Given the description of an element on the screen output the (x, y) to click on. 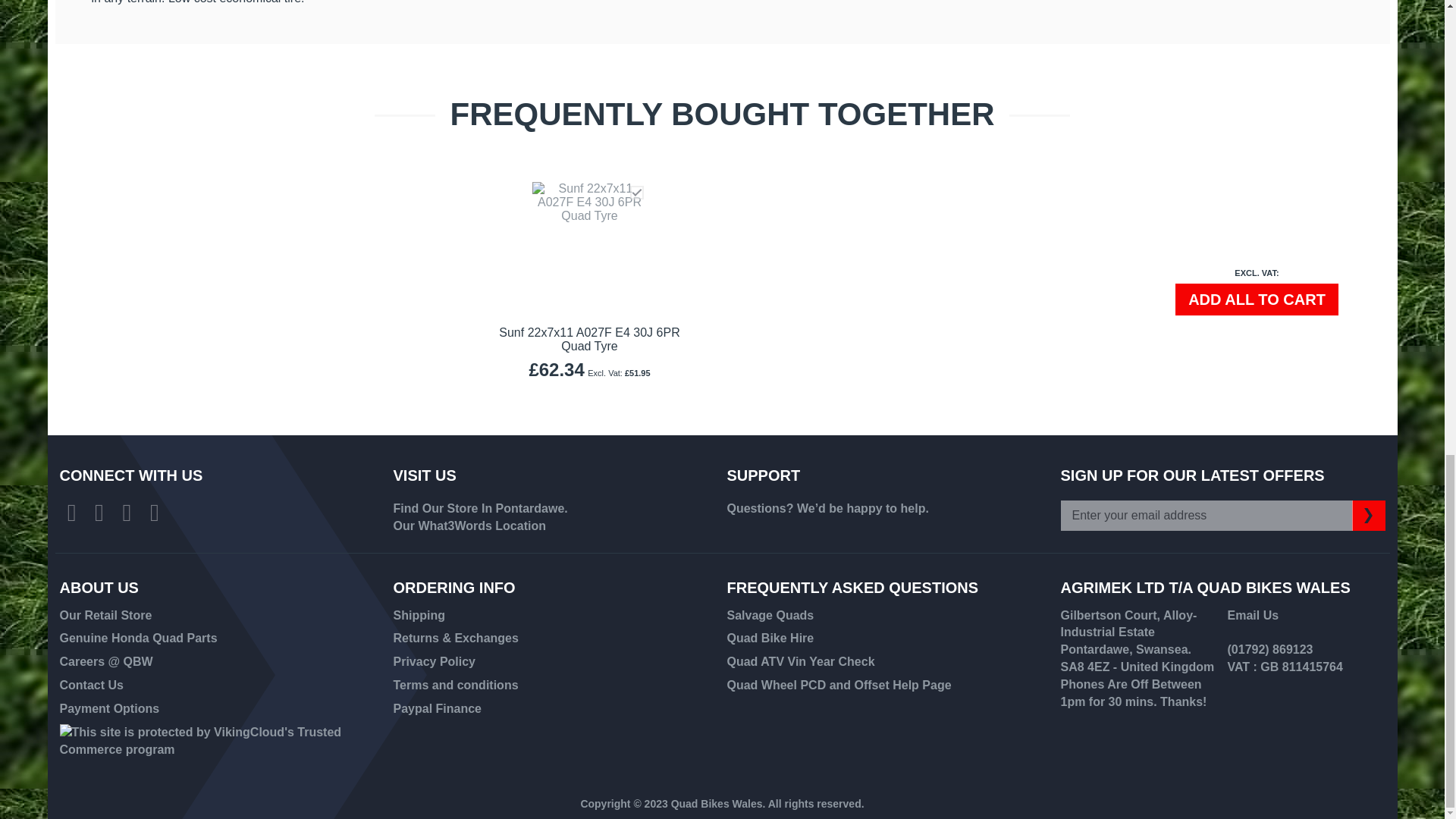
Add to Cart (1256, 299)
15170 (635, 192)
Sunf 22x7x11 A027F E4 30J 6PR Quad Tyre (589, 338)
Subscribe (1367, 515)
